Given the description of an element on the screen output the (x, y) to click on. 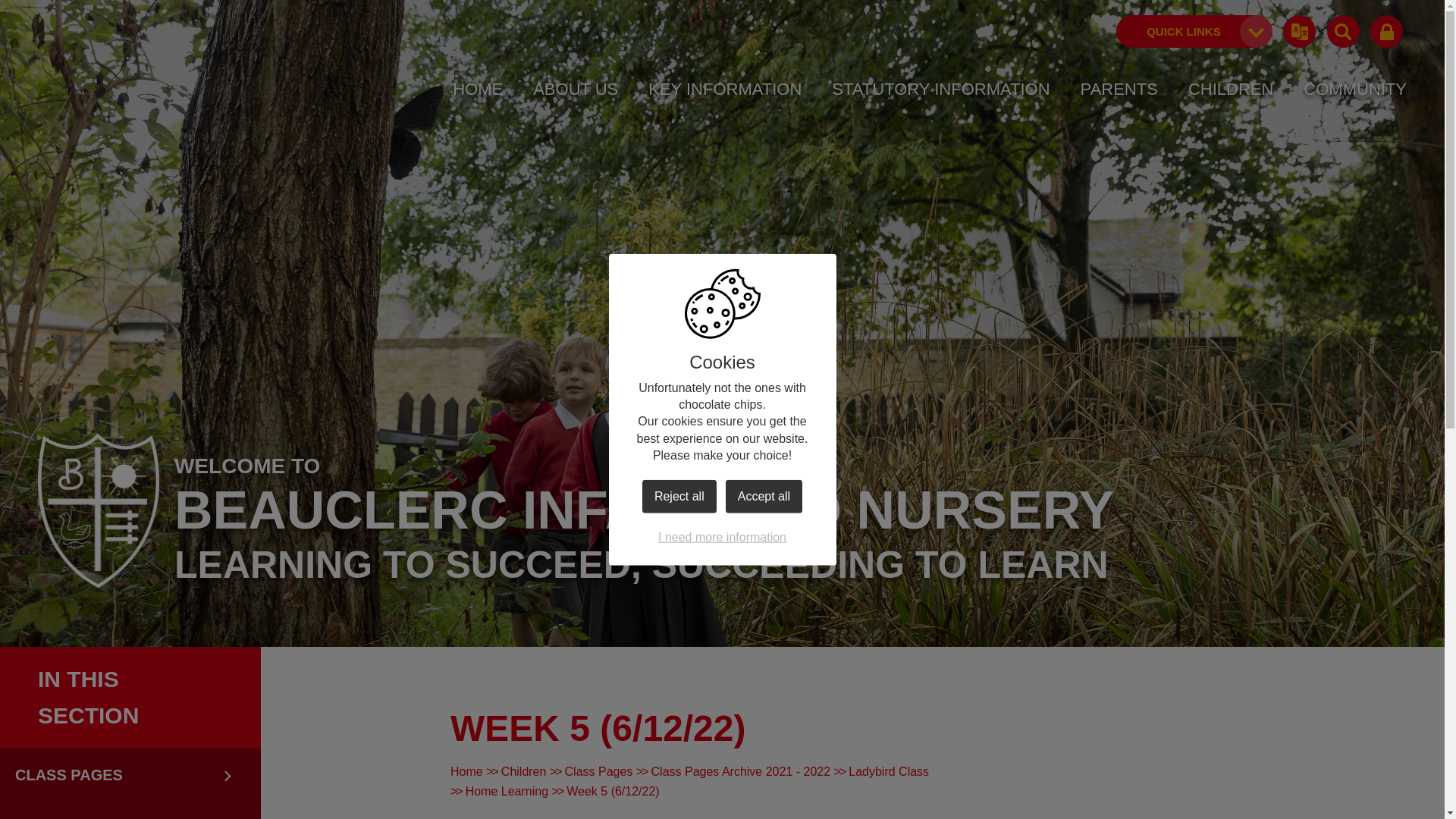
KEY INFORMATION (724, 89)
ABOUT US (574, 89)
HOME (477, 89)
Log in (1386, 32)
